Given the description of an element on the screen output the (x, y) to click on. 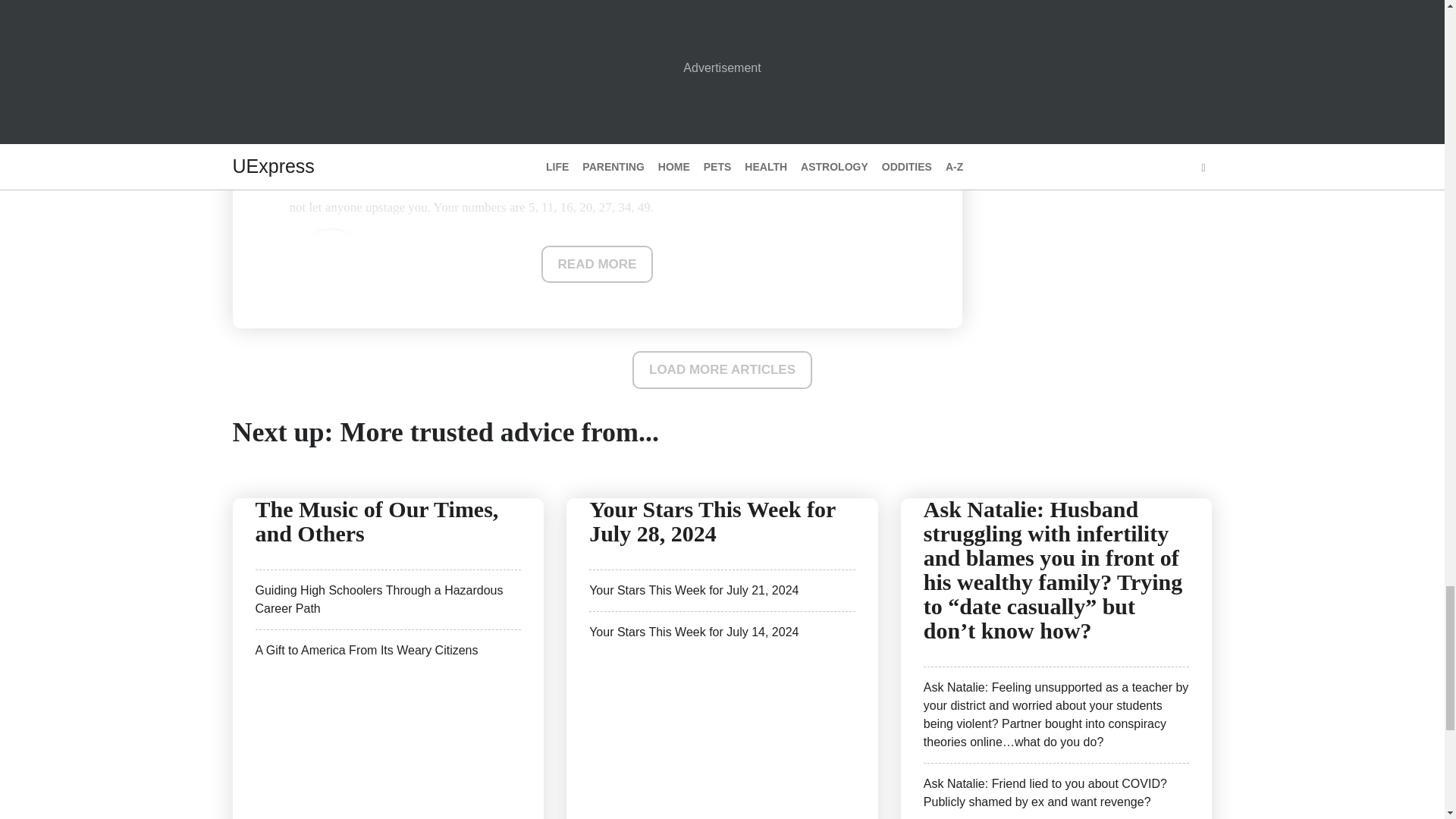
LOAD MORE ARTICLES (721, 370)
Guiding High Schoolers Through a Hazardous Career Path (378, 599)
The Music of Our Times, and Others (375, 520)
Last Word in Astrology for August 20, 2011 (398, 7)
READ MORE (597, 264)
A Gift to America From Its Weary Citizens (365, 649)
